Given the description of an element on the screen output the (x, y) to click on. 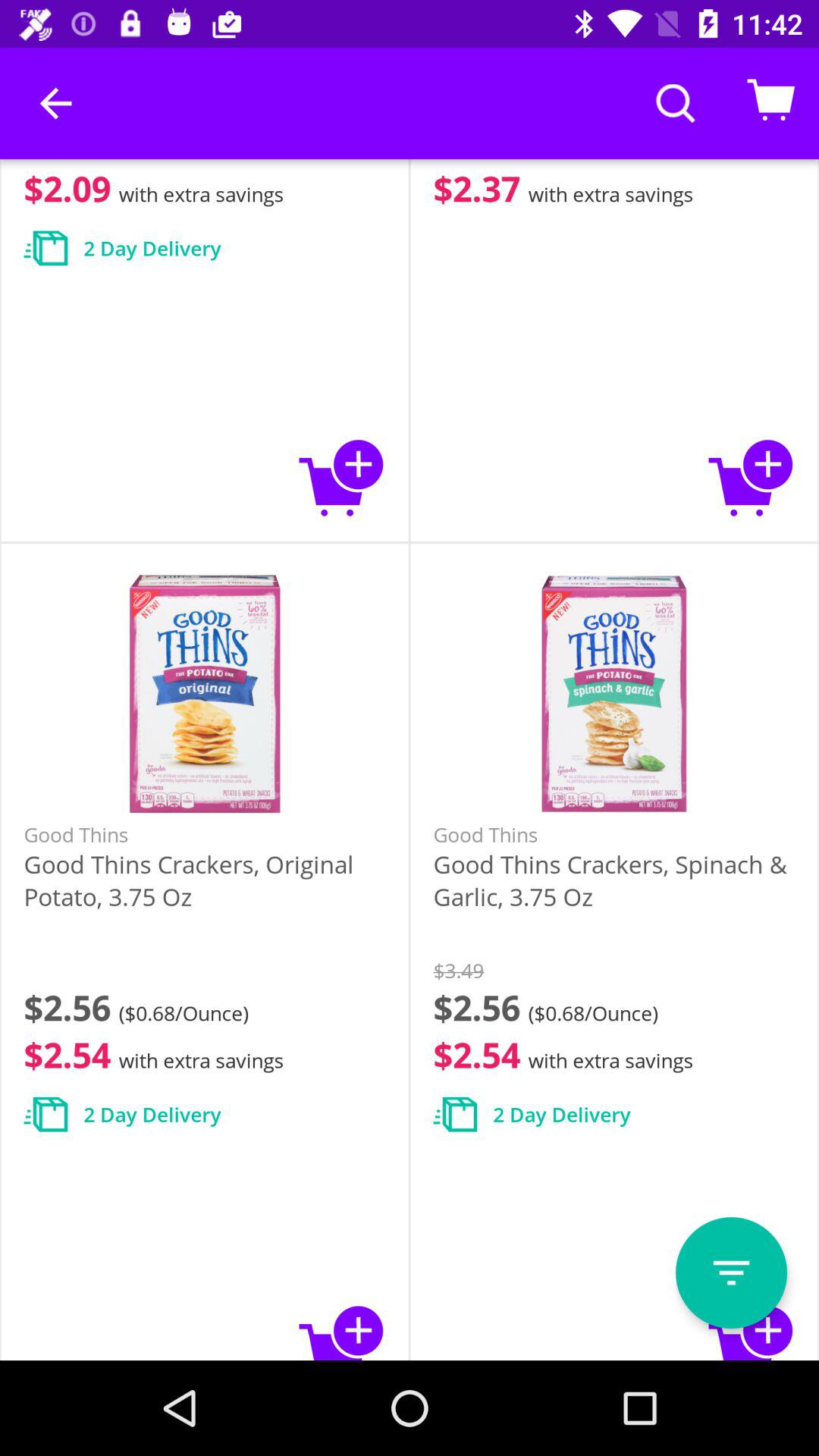
add to cart (342, 1330)
